Given the description of an element on the screen output the (x, y) to click on. 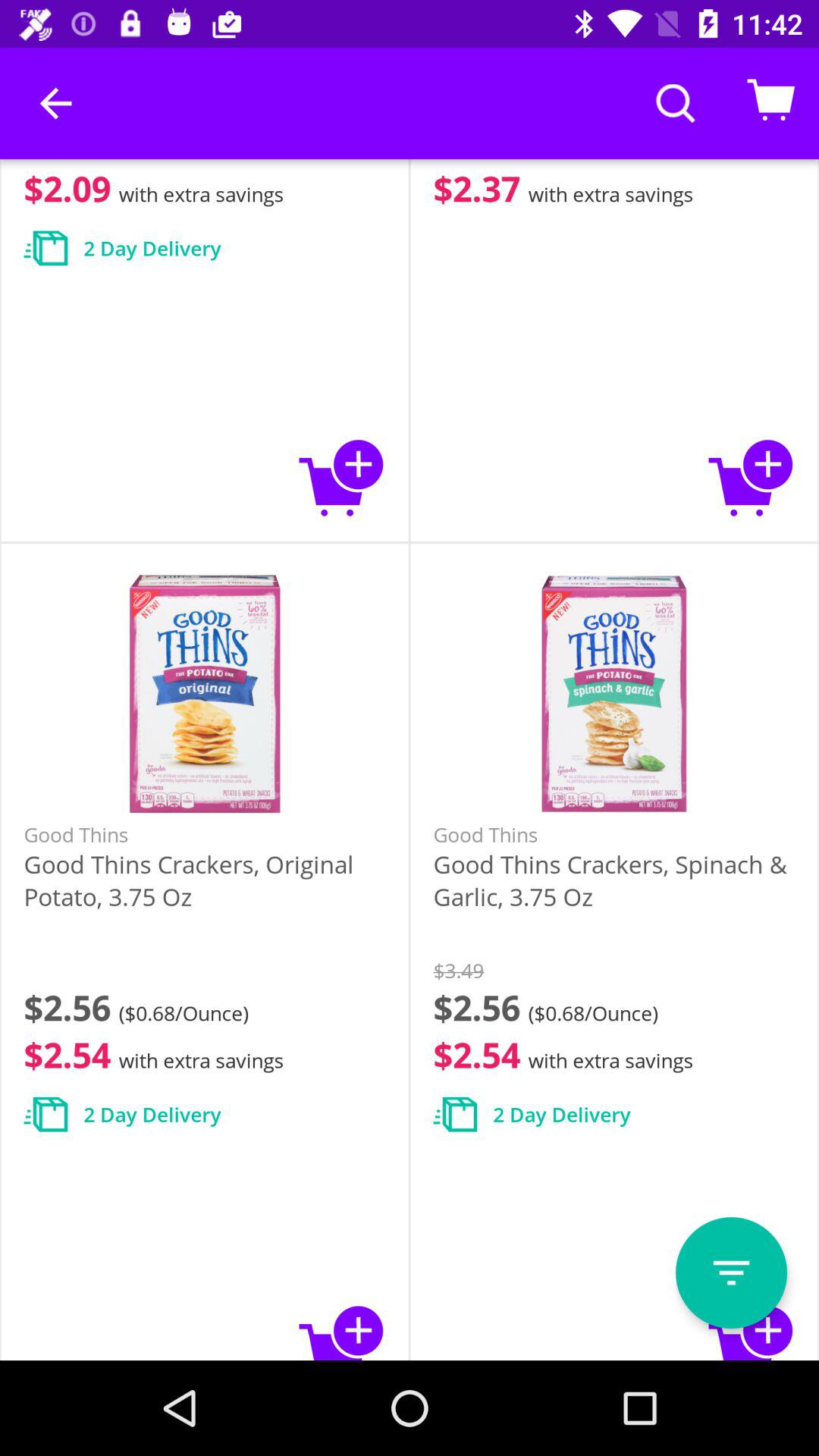
add to cart (342, 1330)
